Given the description of an element on the screen output the (x, y) to click on. 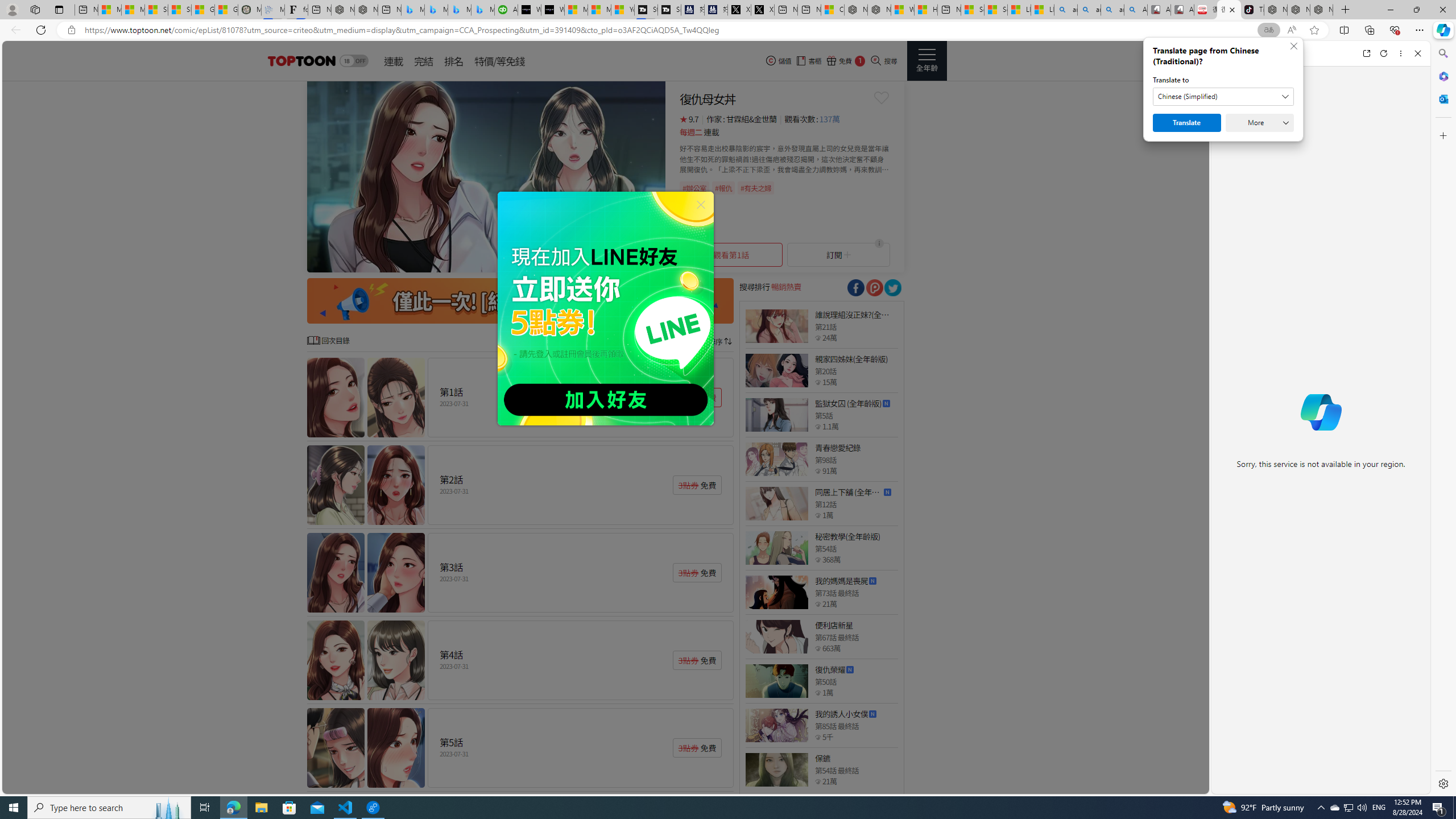
More options (1401, 53)
To get missing image descriptions, open the context menu. (486, 176)
Side bar (1443, 418)
TikTok (1252, 9)
